Given the description of an element on the screen output the (x, y) to click on. 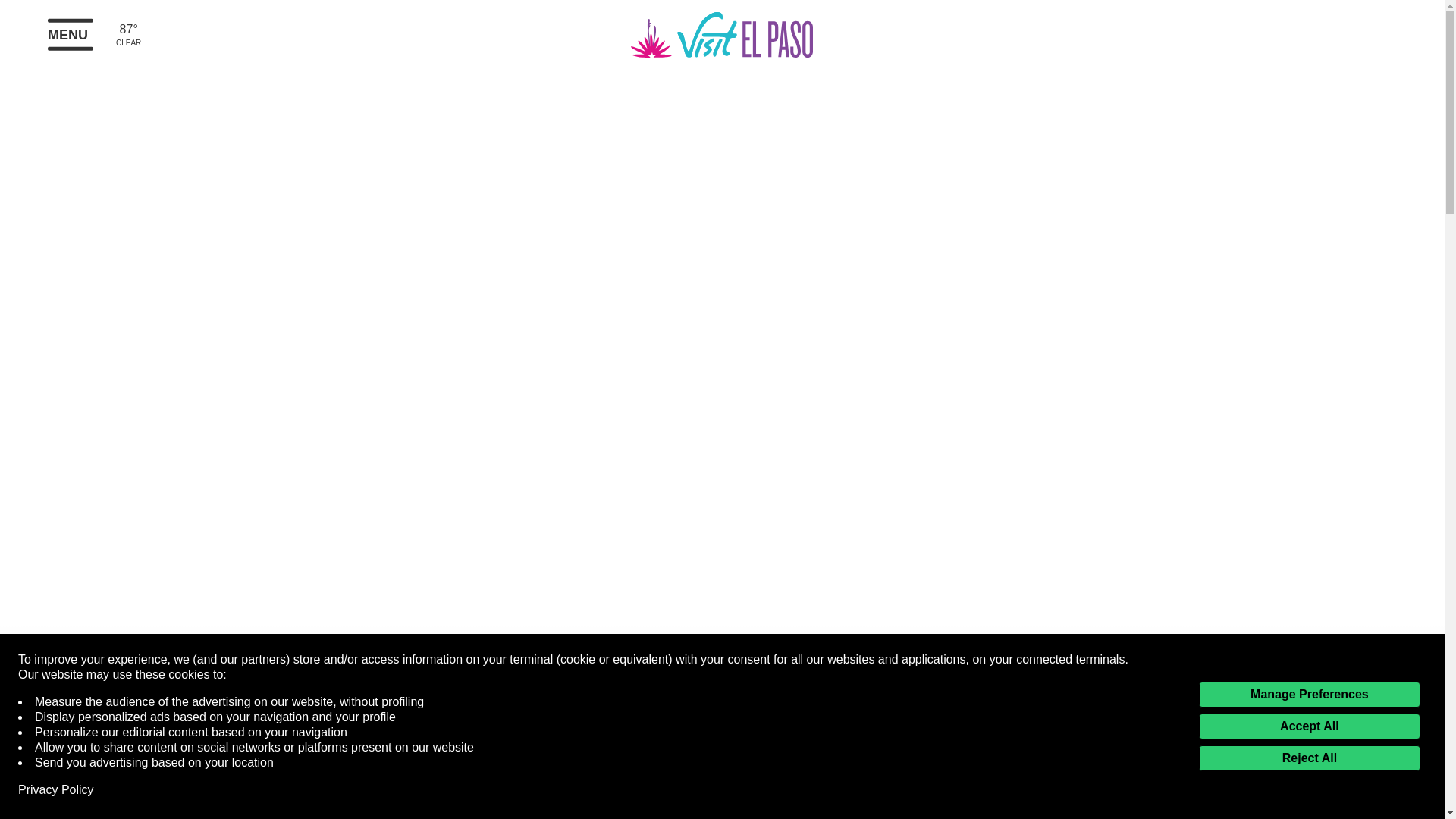
Accept All (1309, 726)
Reject All (1309, 758)
Manage Preferences (1309, 694)
Privacy Policy (55, 789)
